Given the description of an element on the screen output the (x, y) to click on. 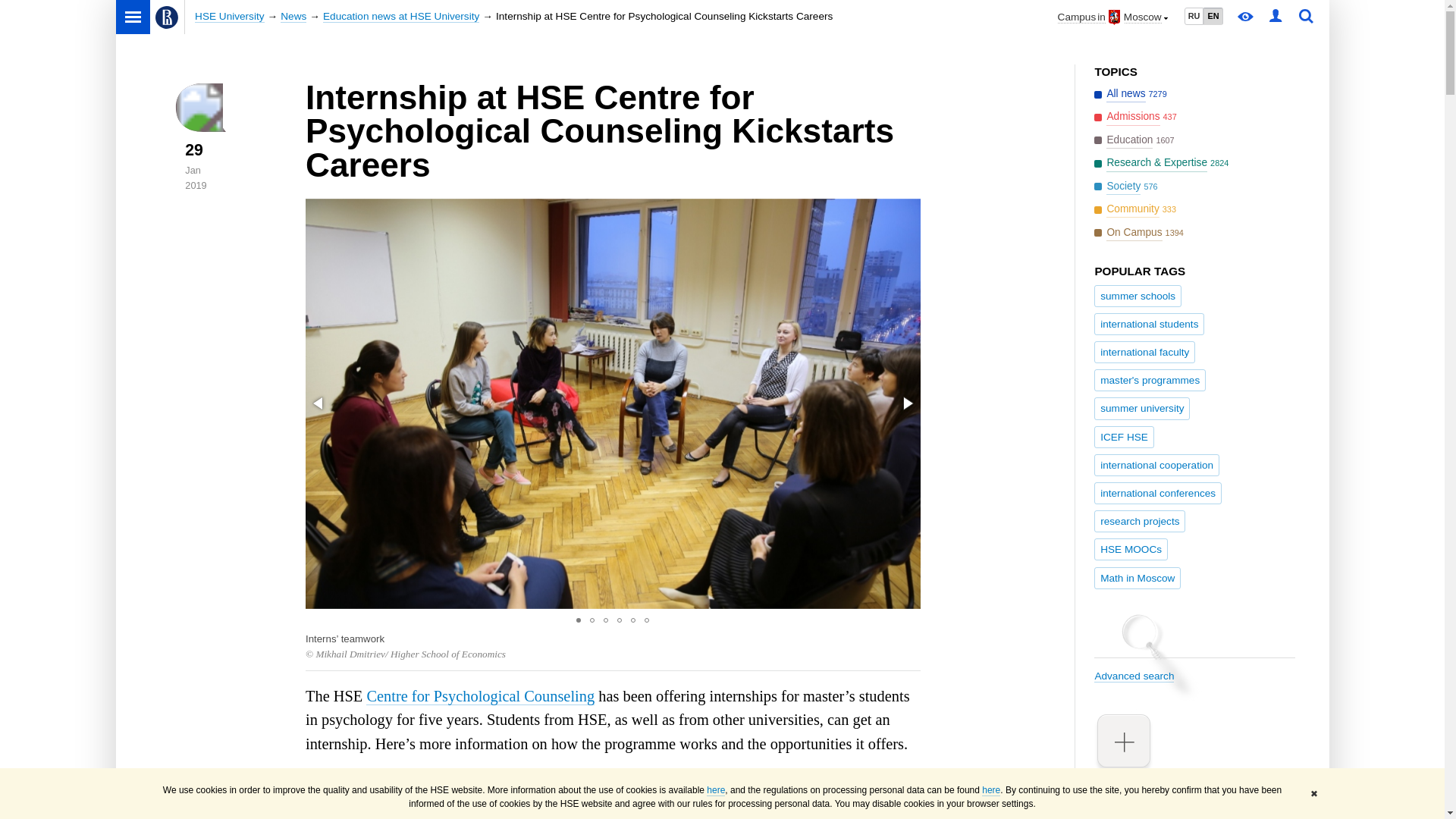
international students (1149, 323)
Advanced search (1194, 662)
Admissions437 (1136, 116)
Education news at HSE University (401, 16)
international cooperation (1156, 464)
Share your news (1194, 750)
Community333 (1136, 208)
here (990, 790)
Society576 (1127, 186)
summer schools (1137, 296)
Math in Moscow (1137, 577)
research projects (1139, 521)
international conferences (1157, 493)
HSE University (229, 16)
RU (1194, 16)
